Given the description of an element on the screen output the (x, y) to click on. 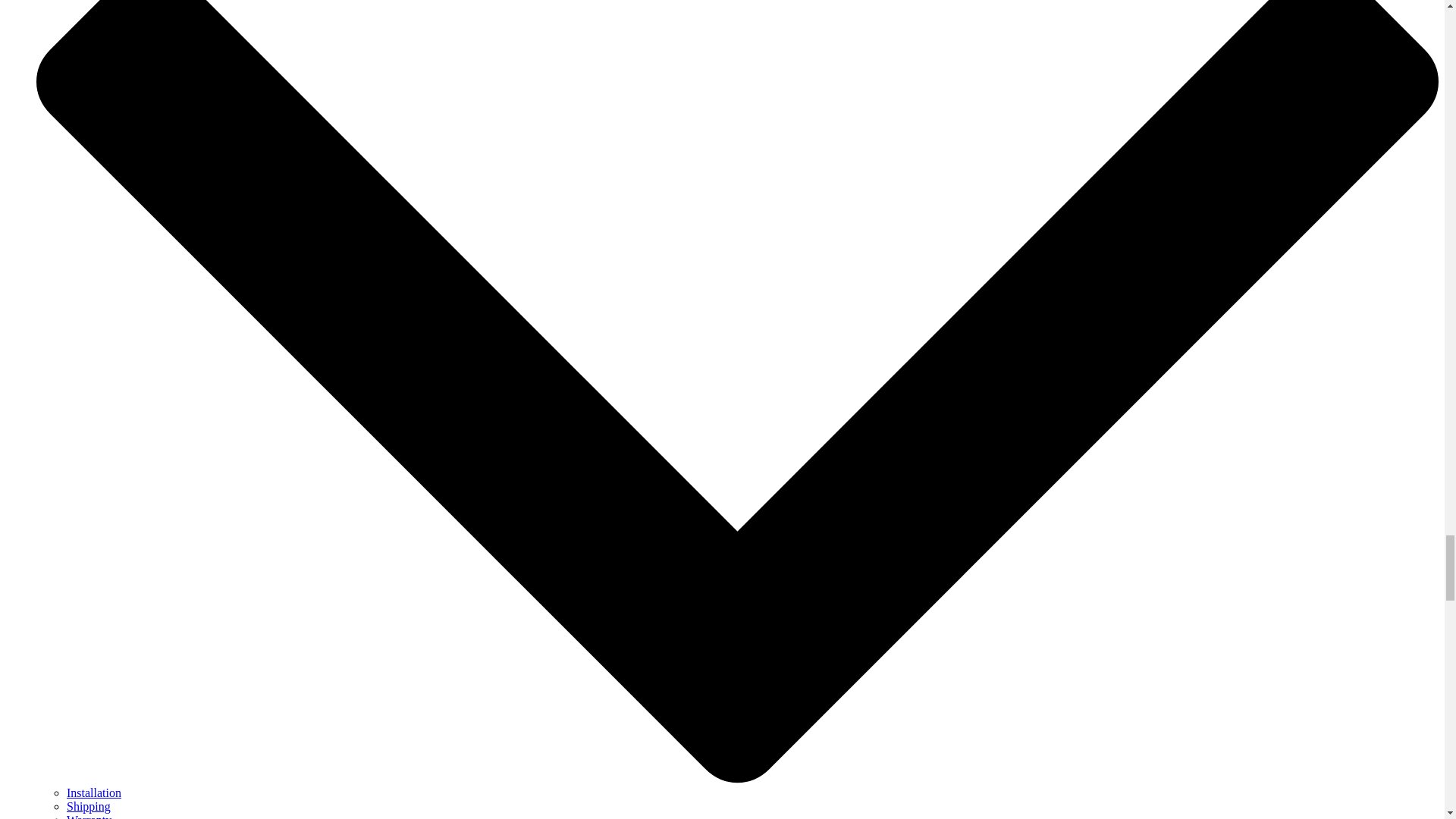
Shipping (88, 806)
Warranty (89, 816)
Installation (93, 792)
